Given the description of an element on the screen output the (x, y) to click on. 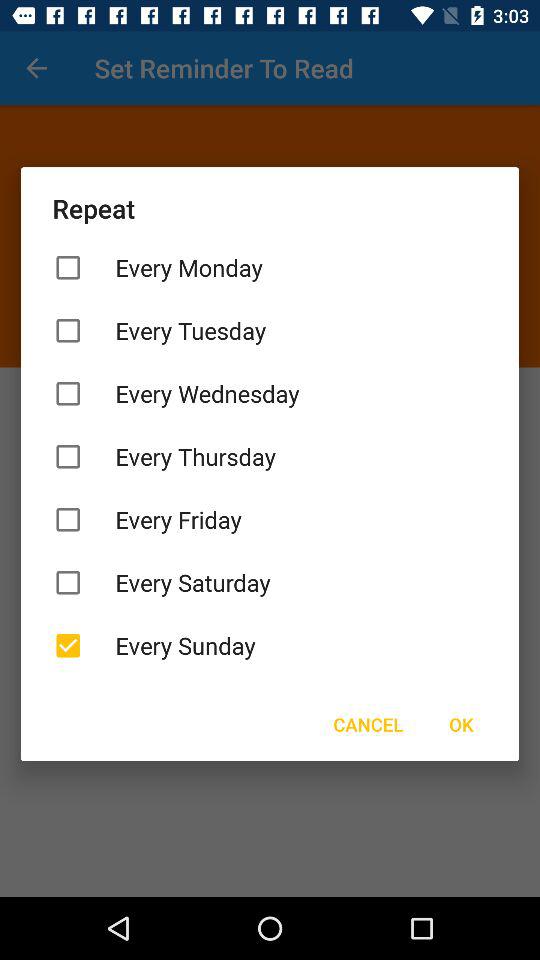
click the icon to the left of the ok icon (368, 724)
